Given the description of an element on the screen output the (x, y) to click on. 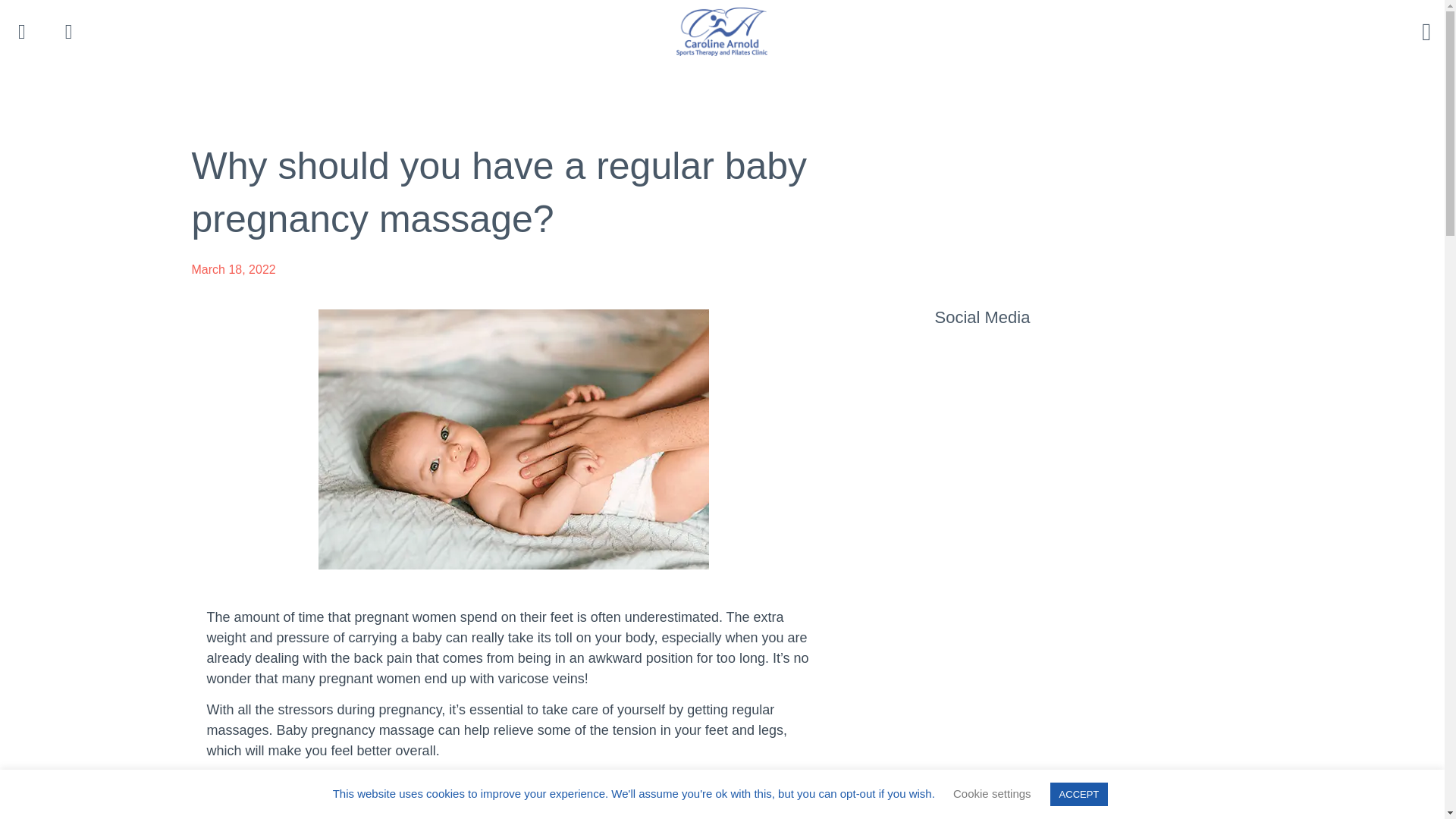
March 18, 2022 (232, 270)
